Given the description of an element on the screen output the (x, y) to click on. 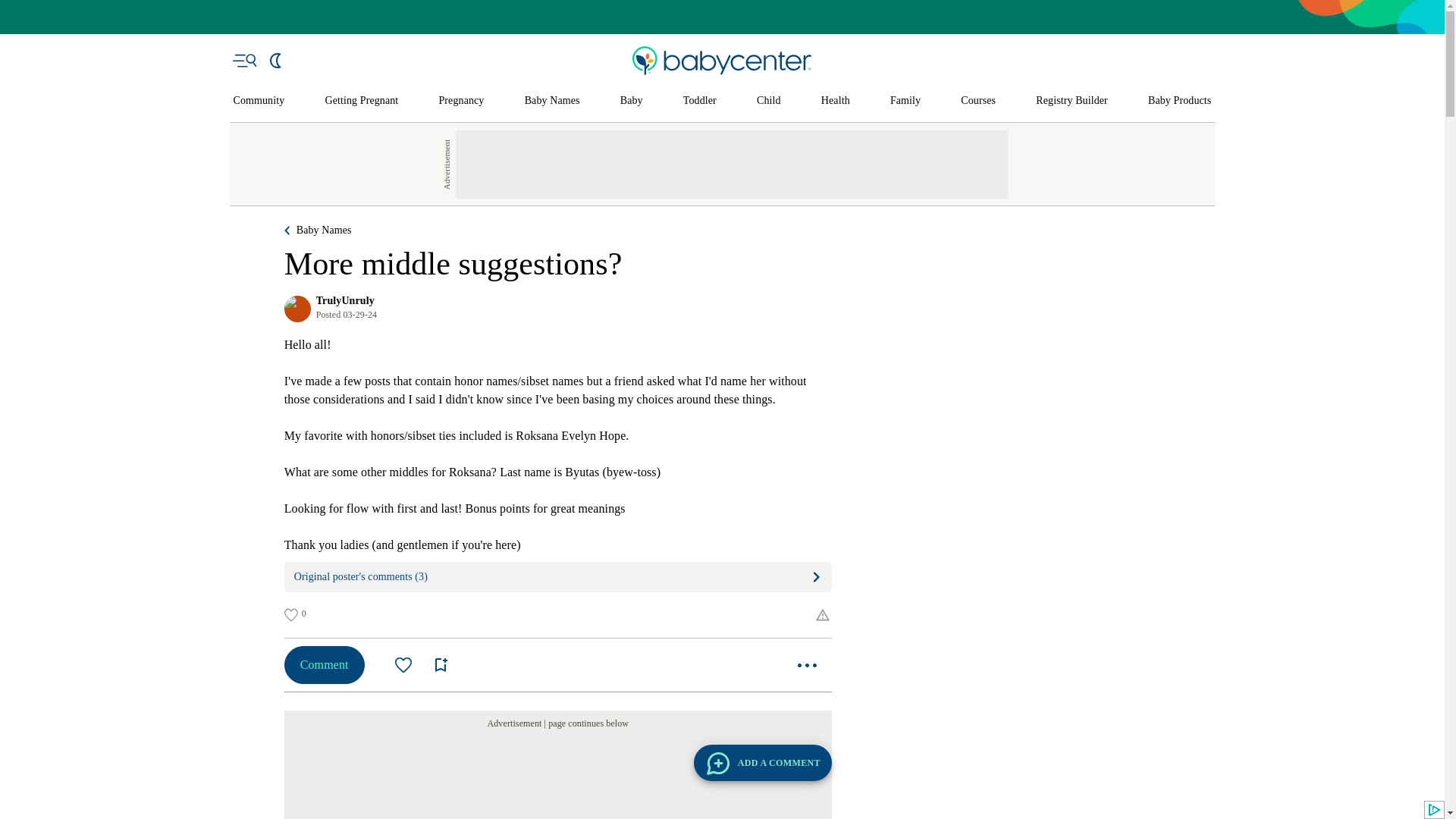
Registry Builder (1071, 101)
Family (904, 101)
Baby Names (551, 101)
Pregnancy (460, 101)
Health (835, 101)
Community (258, 101)
Child (768, 101)
Toddler (699, 101)
Courses (977, 101)
Baby Products (1179, 101)
Baby (631, 101)
Getting Pregnant (360, 101)
